Given the description of an element on the screen output the (x, y) to click on. 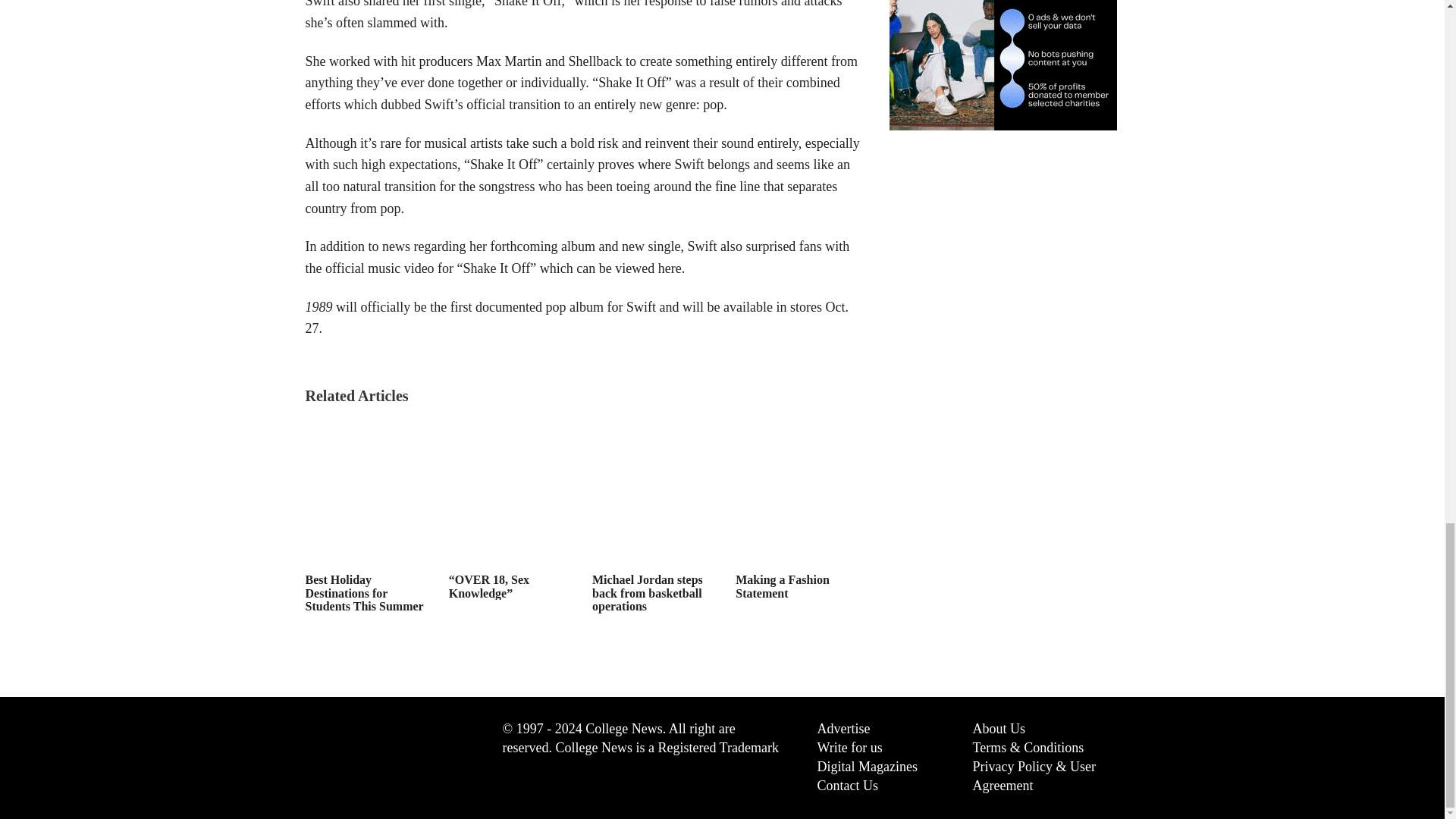
Advertisement (1002, 225)
